Given the description of an element on the screen output the (x, y) to click on. 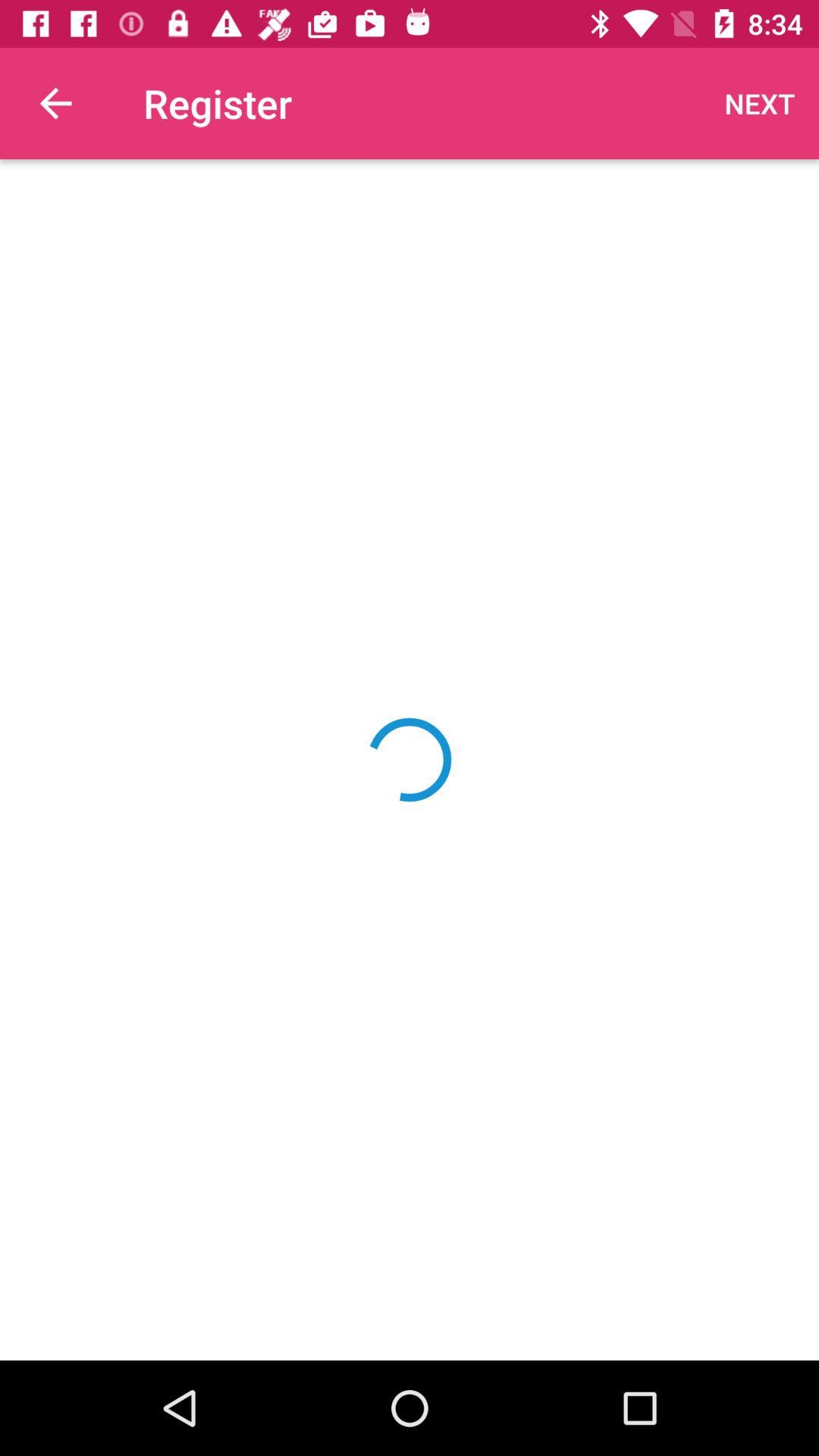
swipe until next item (759, 103)
